Given the description of an element on the screen output the (x, y) to click on. 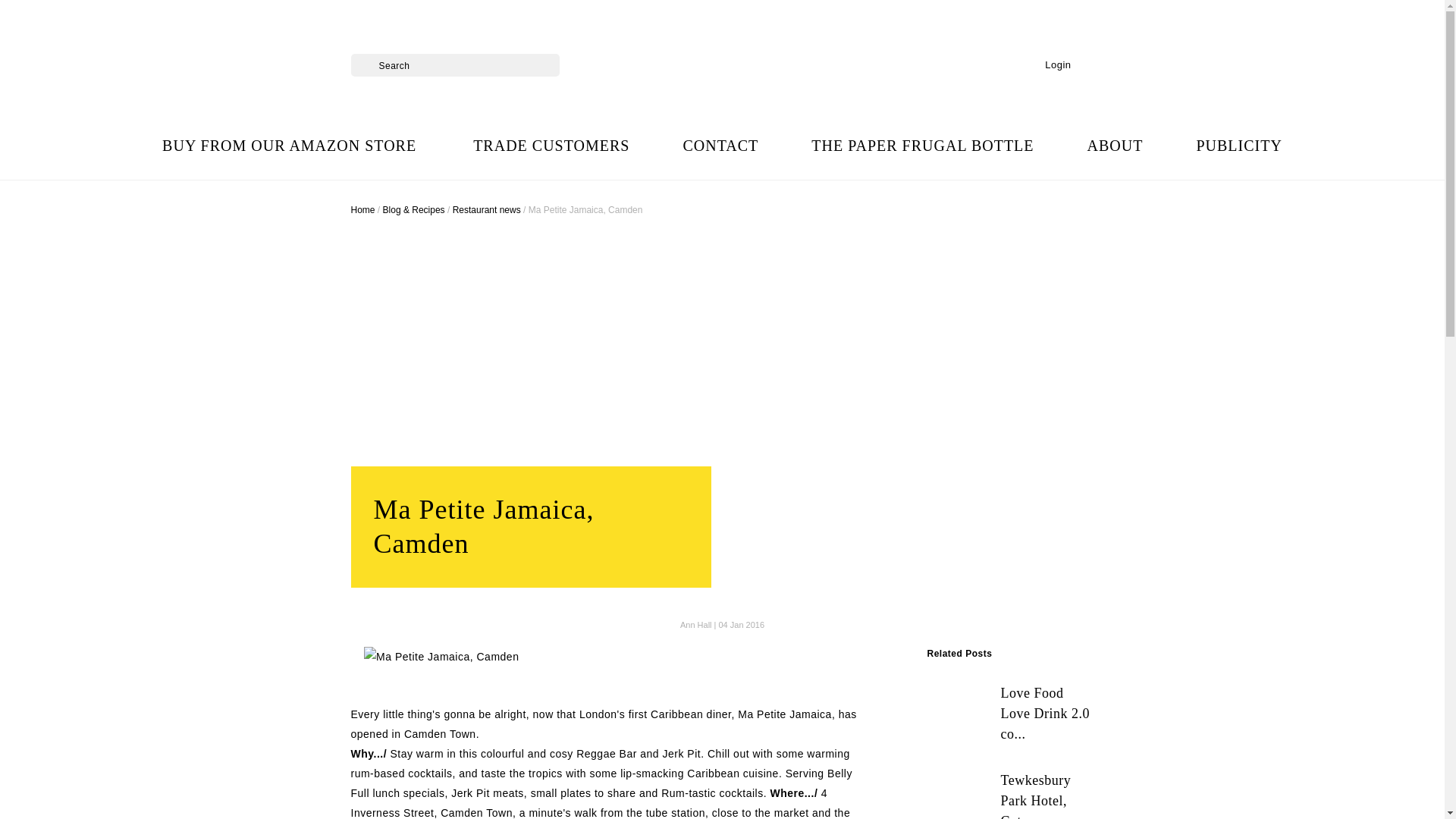
TRADE CUSTOMERS (550, 145)
BUY FROM OUR AMAZON STORE (290, 145)
Home (362, 209)
ABOUT (1114, 145)
Submit (361, 59)
Login (1053, 64)
CONTACT (720, 145)
Restaurant news (486, 209)
THE PAPER FRUGAL BOTTLE (921, 145)
